Given the description of an element on the screen output the (x, y) to click on. 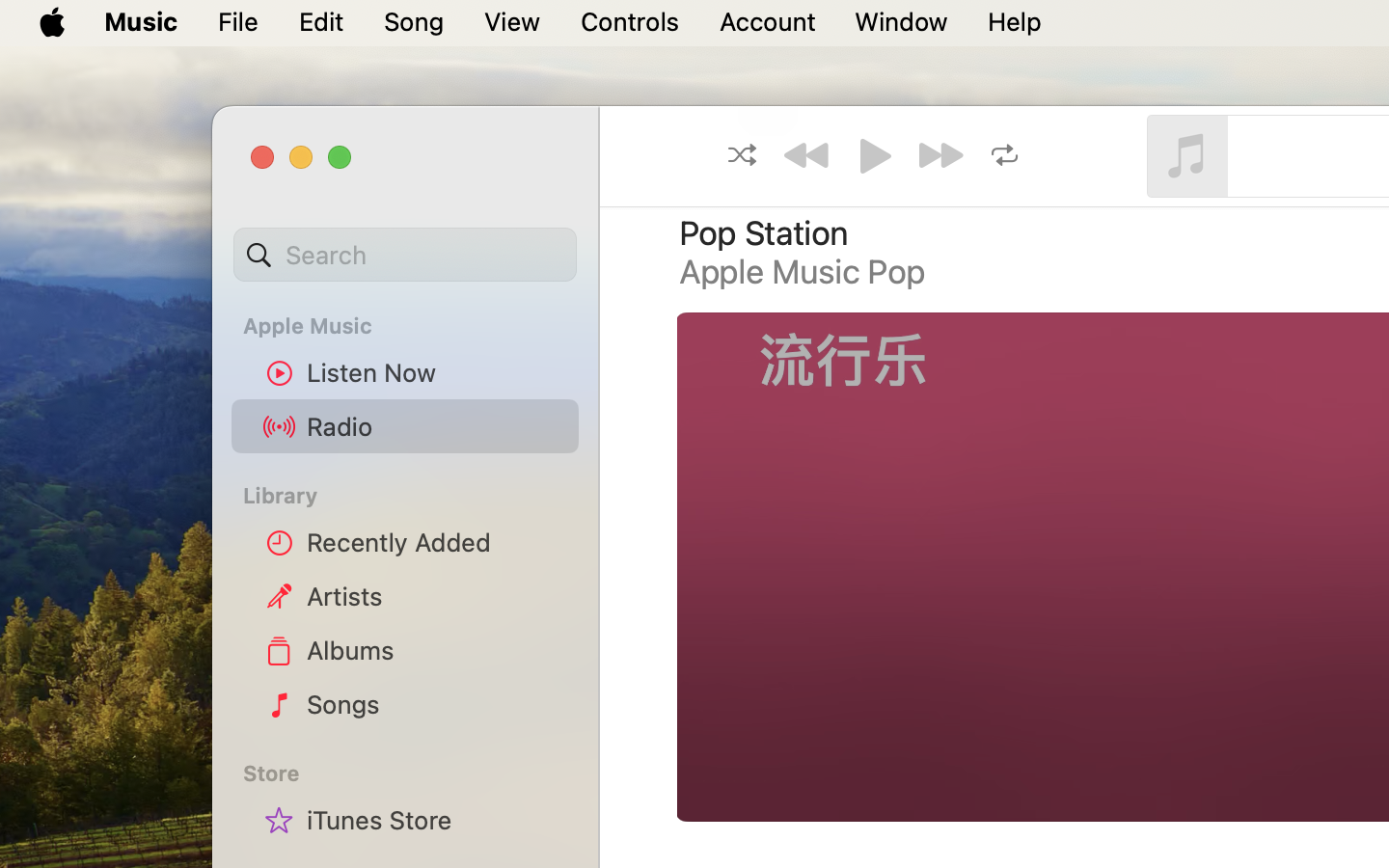
Radio Element type: AXStaticText (434, 425)
Apple Music Pop Element type: AXStaticText (802, 271)
